Given the description of an element on the screen output the (x, y) to click on. 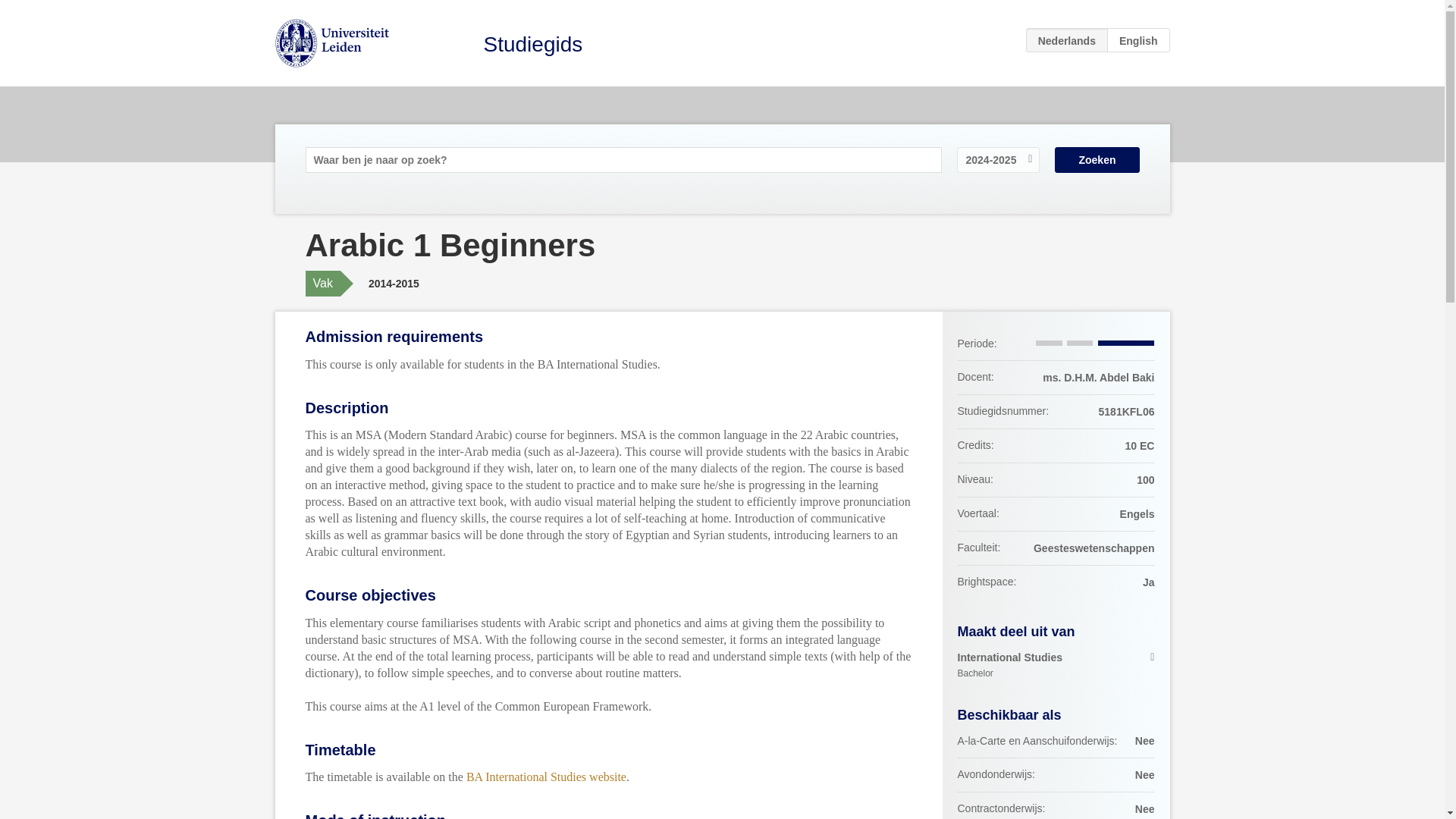
BA International Studies website (545, 776)
Zoeken (1096, 159)
EN (1055, 665)
Studiegids (1138, 39)
